Given the description of an element on the screen output the (x, y) to click on. 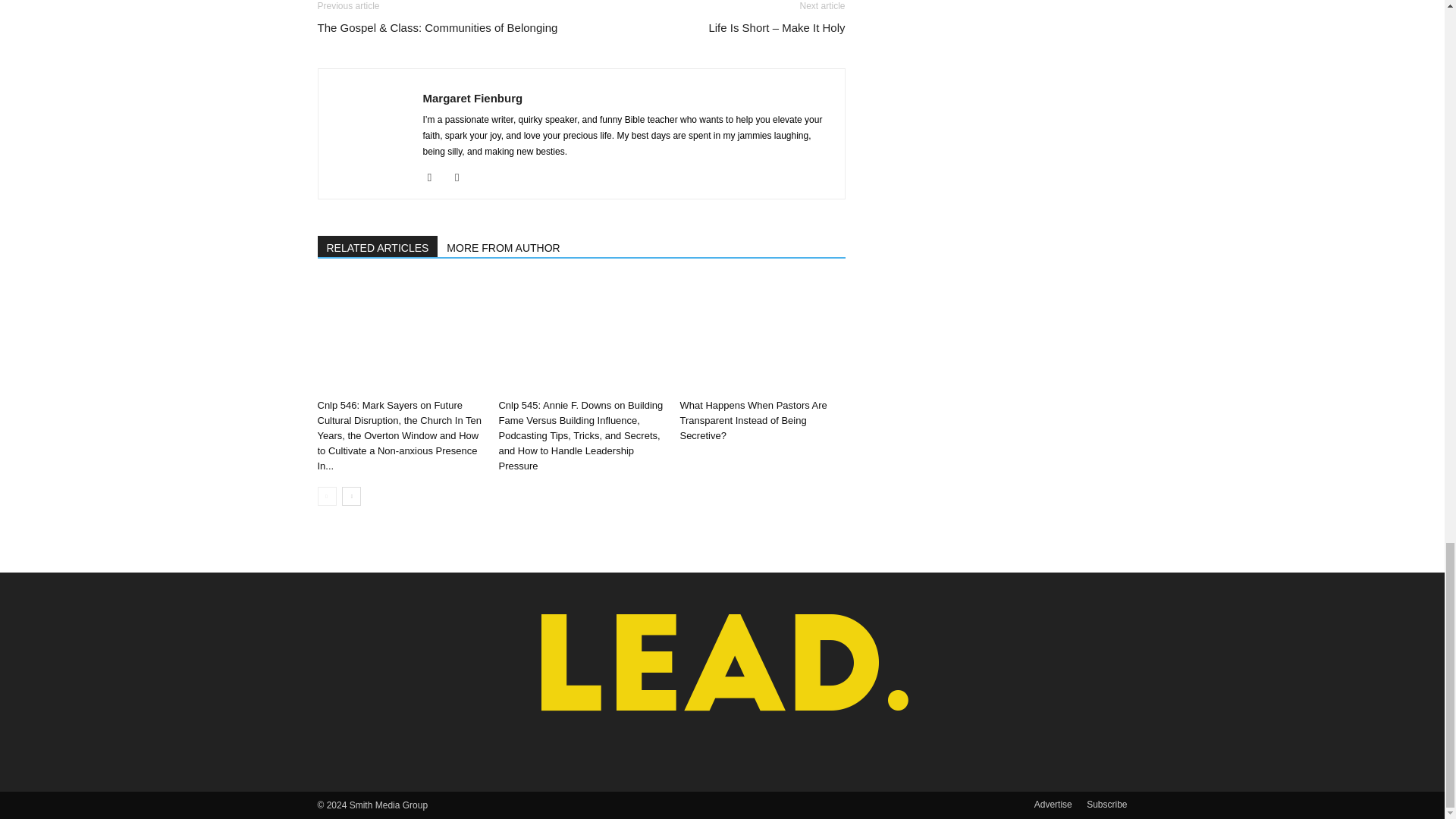
Facebook (435, 177)
